Given the description of an element on the screen output the (x, y) to click on. 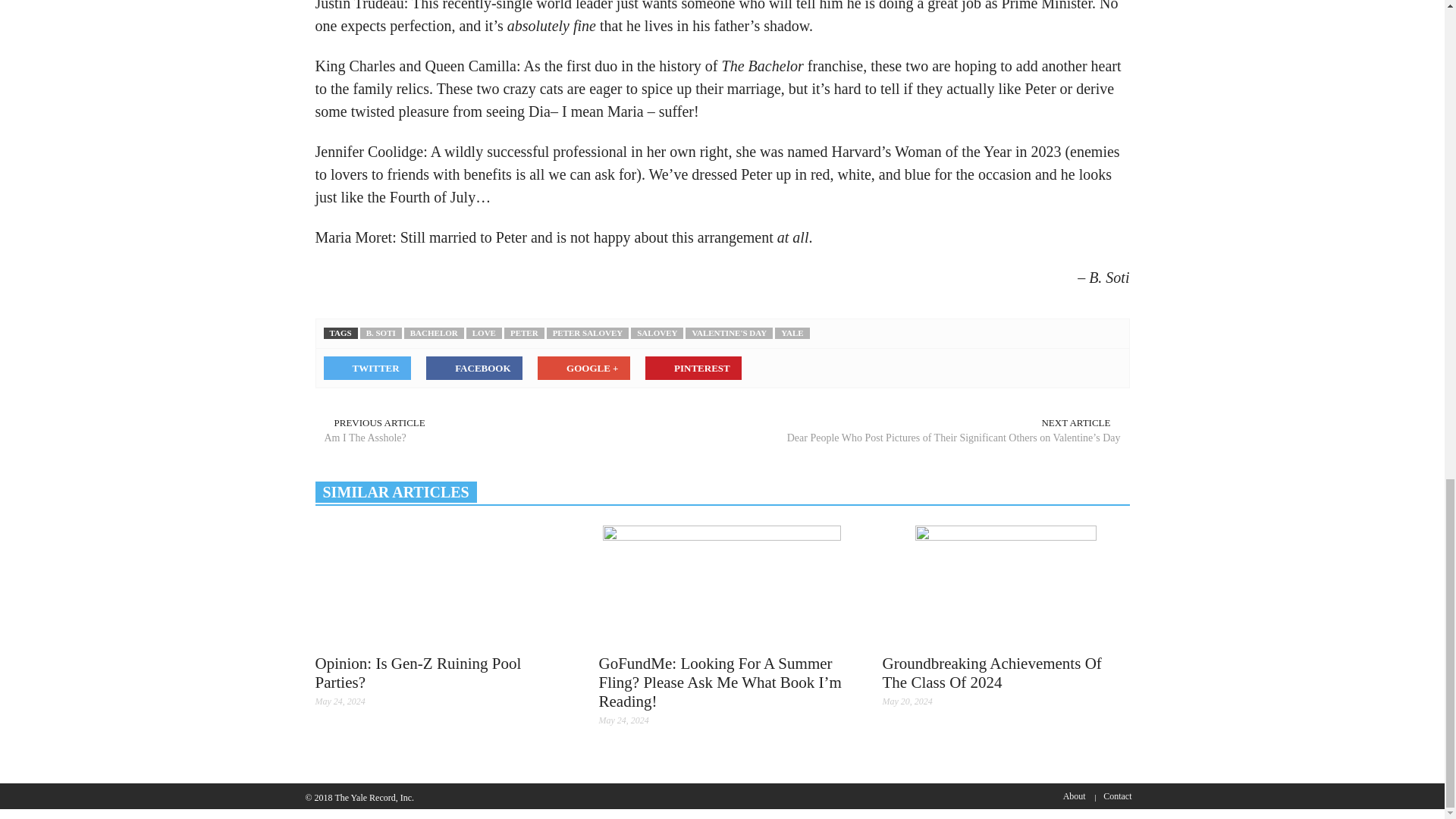
YALE (791, 333)
PETER SALOVEY (587, 333)
VALENTINE'S DAY (729, 333)
Opinion: Is Gen-Z Ruining Pool Parties? (438, 583)
Am I The Asshole? (509, 438)
Groundbreaking Achievements Of The Class Of 2024 (992, 672)
PETER (523, 333)
PINTEREST (693, 368)
Opinion: Is Gen-Z Ruining Pool Parties? (438, 585)
TWITTER (366, 368)
LOVE (483, 333)
Opinion: Is Gen-Z Ruining Pool Parties? (418, 672)
Opinion: Is Gen-Z Ruining Pool Parties? (418, 672)
Groundbreaking Achievements Of The Class Of 2024 (1005, 585)
Groundbreaking Achievements Of The Class Of 2024 (1005, 583)
